Given the description of an element on the screen output the (x, y) to click on. 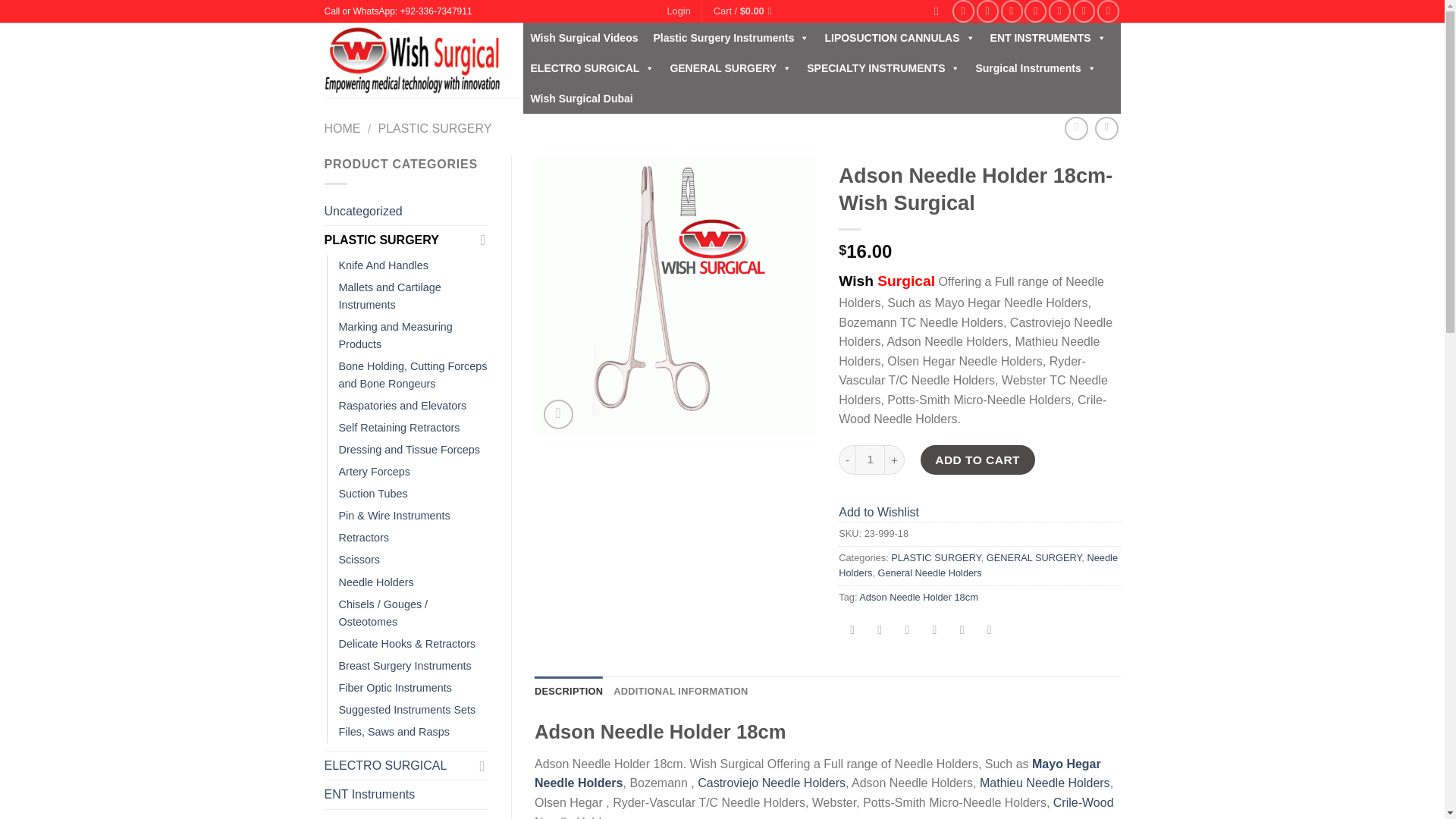
Plastic Surgery Instruments (731, 37)
Wish Surgical -  (412, 60)
1 (870, 460)
Login (678, 11)
LIPOSUCTION CANNULAS (898, 37)
Wish Surgical Videos (584, 37)
Adson Needle Holder 18cm (674, 294)
Qty (870, 460)
Cart (745, 11)
